Given the description of an element on the screen output the (x, y) to click on. 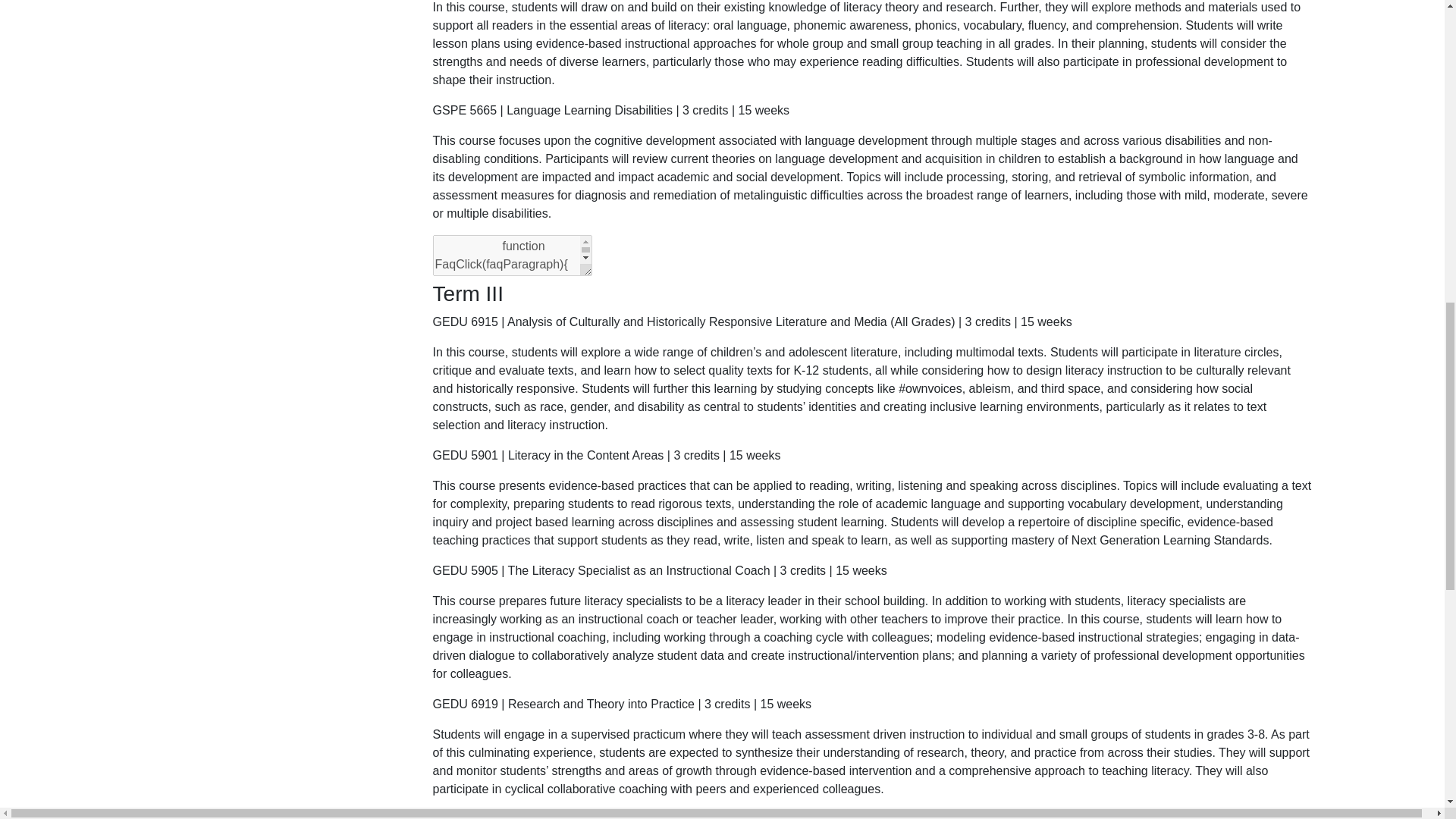
Click to expand (872, 321)
Click to expand (872, 110)
Click to expand (872, 704)
Click to expand (872, 455)
Click to expand (872, 570)
